Given the description of an element on the screen output the (x, y) to click on. 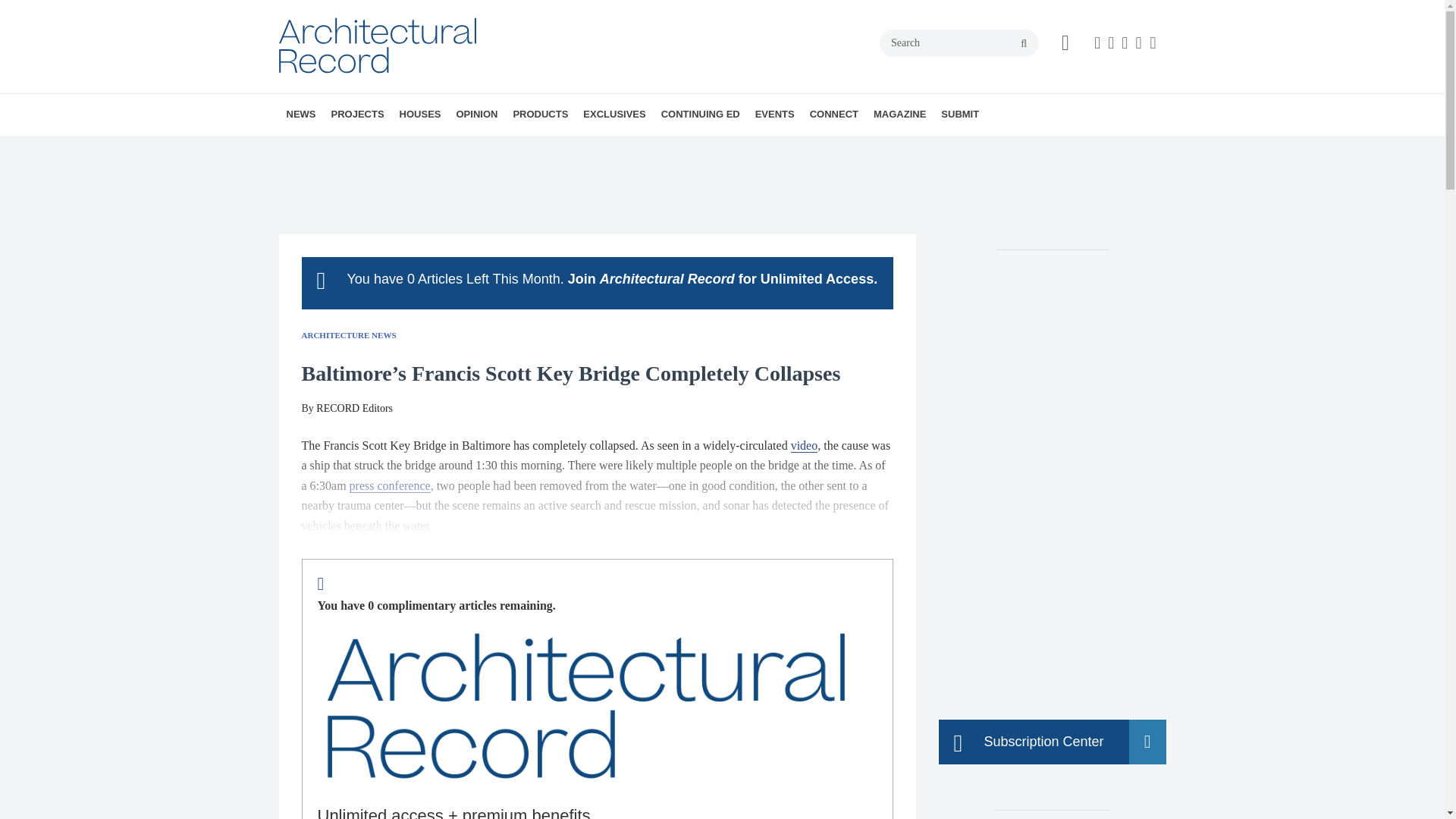
linkedin (1138, 43)
twitter (1123, 43)
HOUSES (419, 114)
OBITUARIES (391, 147)
PODCASTS (397, 147)
Search (959, 42)
LATEST NEWS (373, 147)
MULTIFAMILY HOUSING (442, 147)
BUILDINGS BY TYPE (417, 147)
youtube (1153, 43)
facebook (1097, 43)
PROJECTS (357, 114)
NEWS (301, 114)
AWARDS (380, 147)
cart (1064, 43)
